Given the description of an element on the screen output the (x, y) to click on. 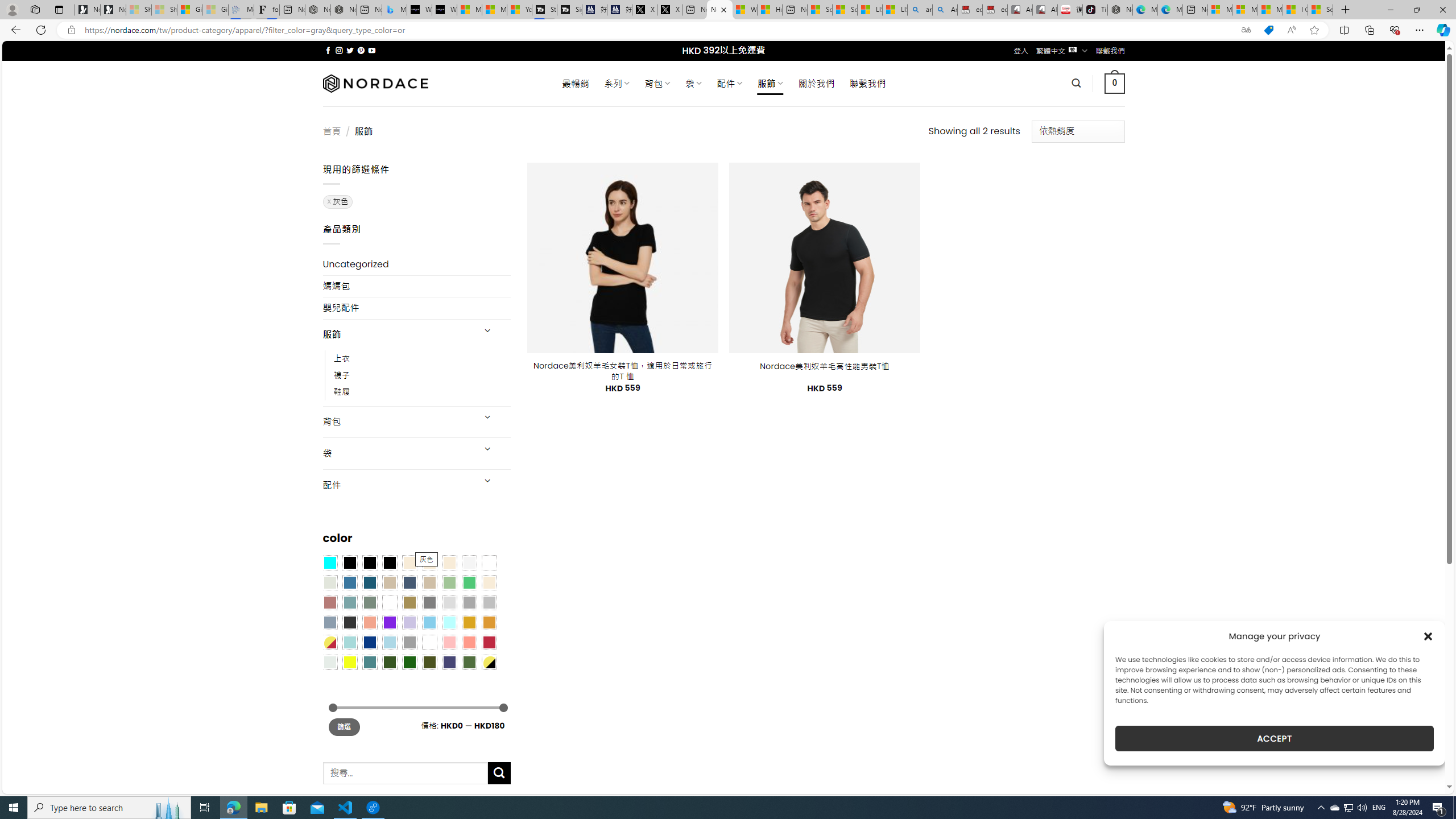
 0  (1115, 83)
This site has coupons! Shopping in Microsoft Edge (1268, 29)
Uncategorized (416, 264)
  0   (1115, 83)
